Given the description of an element on the screen output the (x, y) to click on. 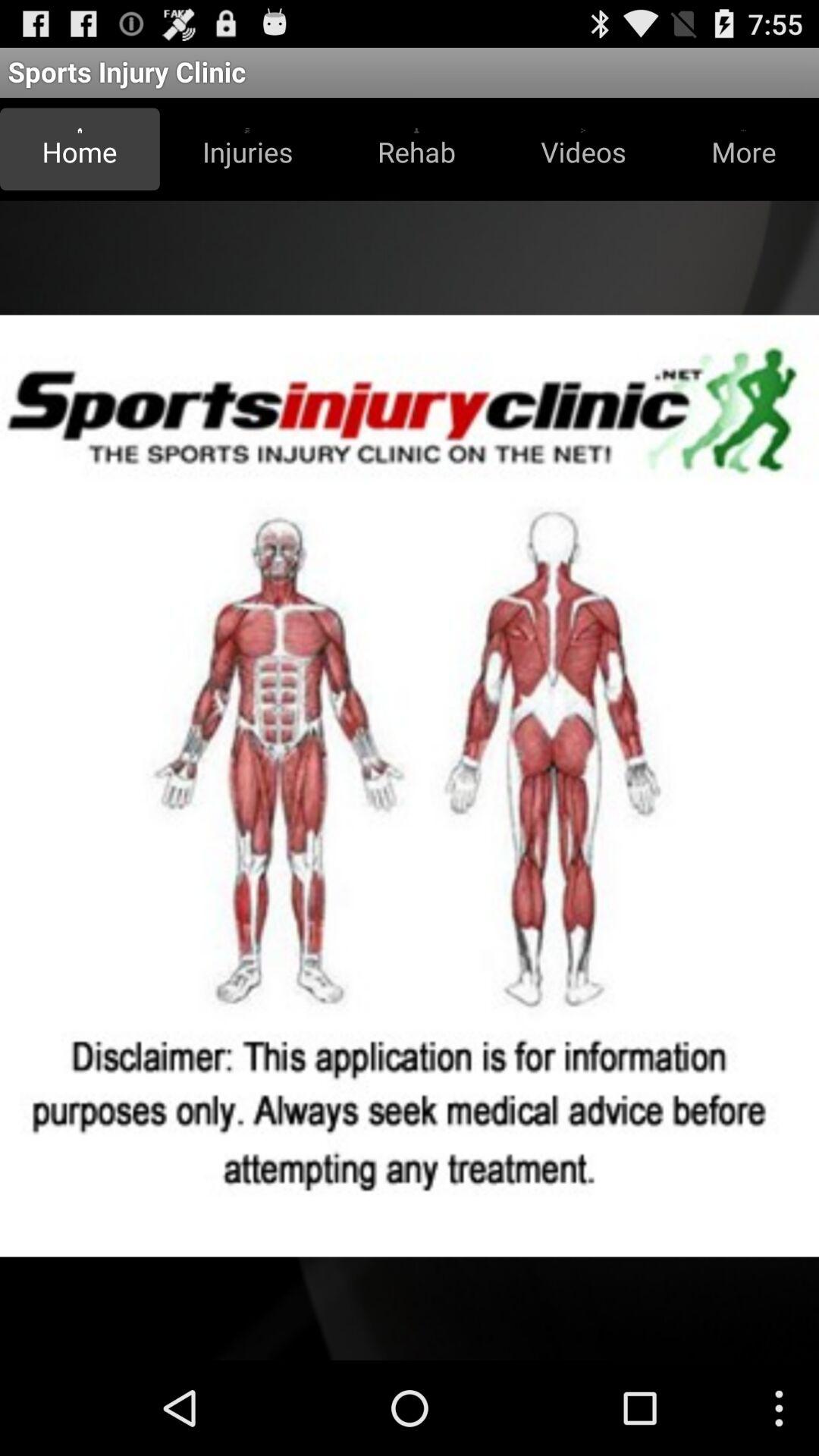
flip until home (79, 149)
